Given the description of an element on the screen output the (x, y) to click on. 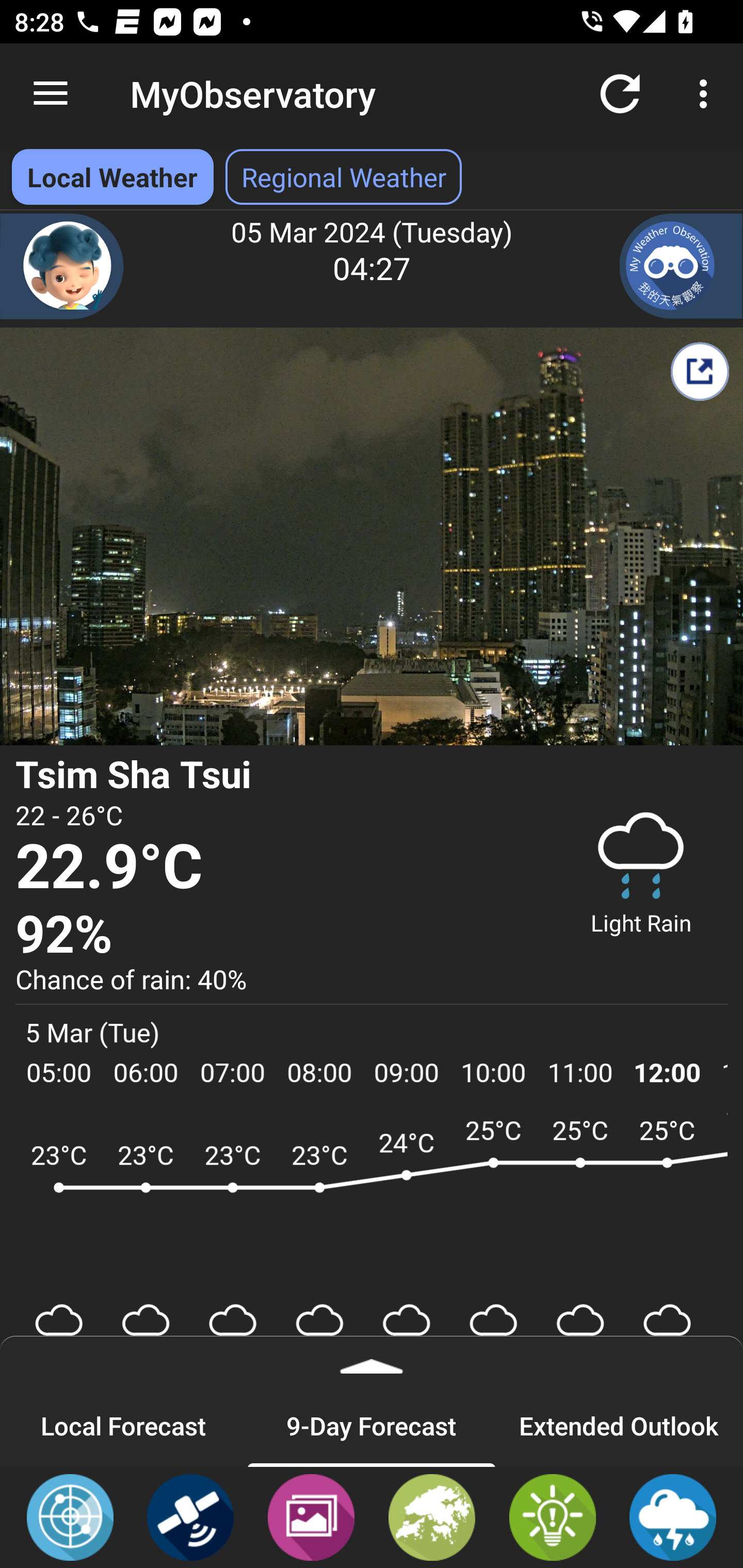
Navigate up (50, 93)
Refresh (619, 93)
More options (706, 93)
Local Weather Local Weather selected (112, 176)
Regional Weather Select Regional Weather (343, 176)
Chatbot (62, 266)
My Weather Observation (680, 265)
Share My Weather Report (699, 371)
22.9°C Temperature
22.9 degree Celsius (276, 867)
92% Relative Humidity
92 percent (276, 934)
Expand (371, 1358)
Local Forecast (123, 1424)
Extended Outlook (619, 1424)
Radar Images (69, 1516)
Satellite Images (190, 1516)
Weather Photos (310, 1516)
Regional Weather (431, 1516)
Weather Tips (551, 1516)
Loc-based Rainfall & Lightning Forecast (672, 1516)
